Given the description of an element on the screen output the (x, y) to click on. 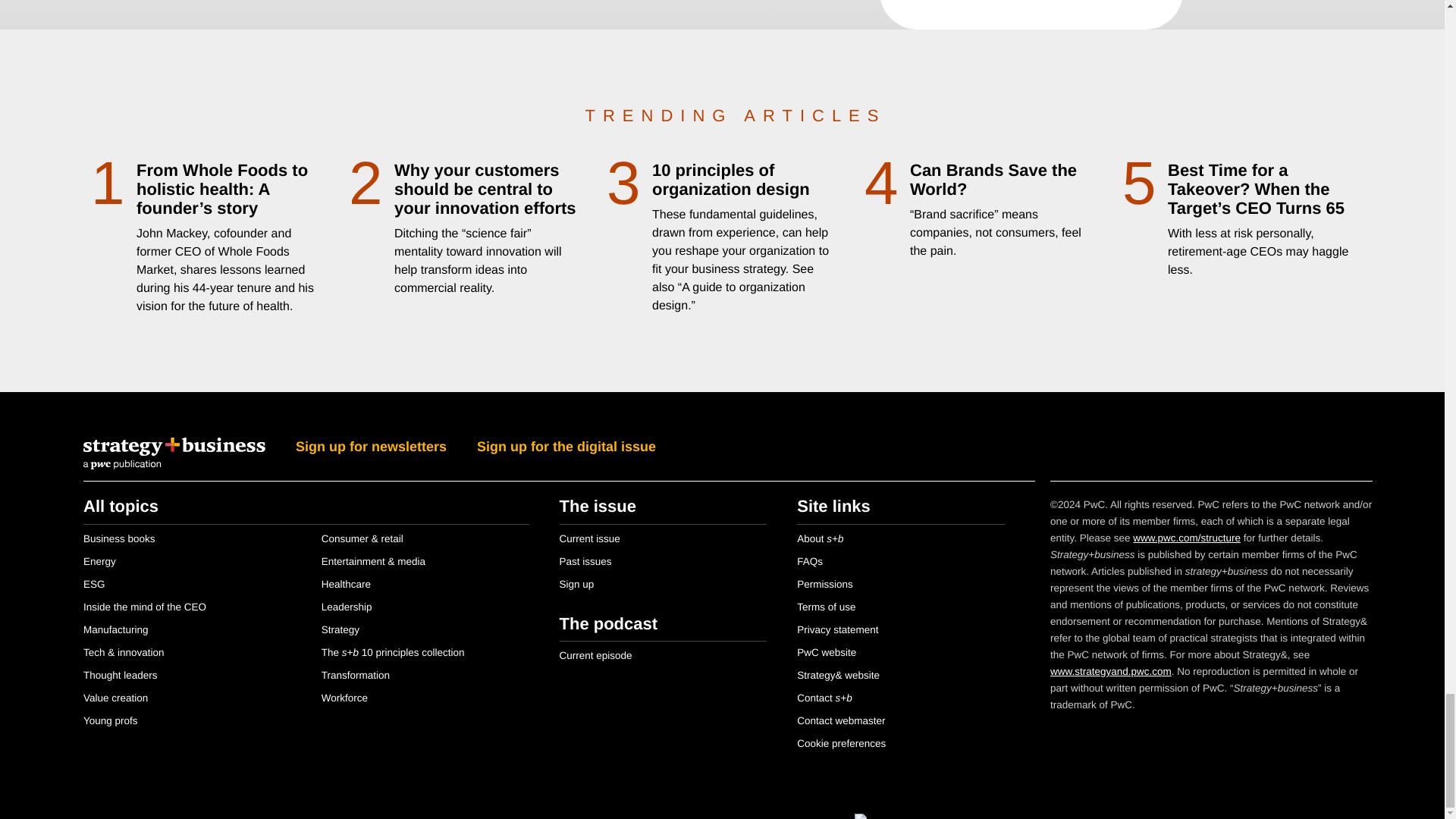
Newsletters (1031, 14)
